Given the description of an element on the screen output the (x, y) to click on. 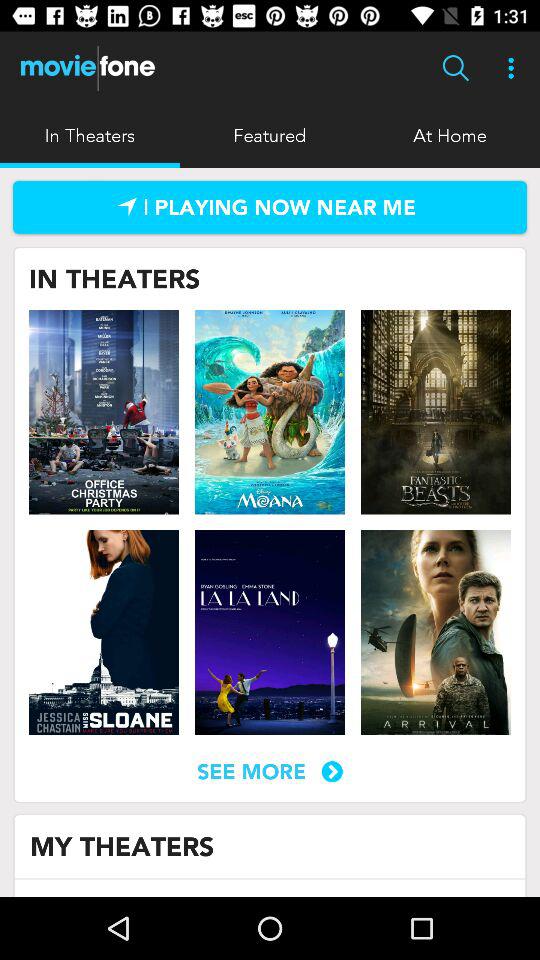
go to movie (435, 632)
